Given the description of an element on the screen output the (x, y) to click on. 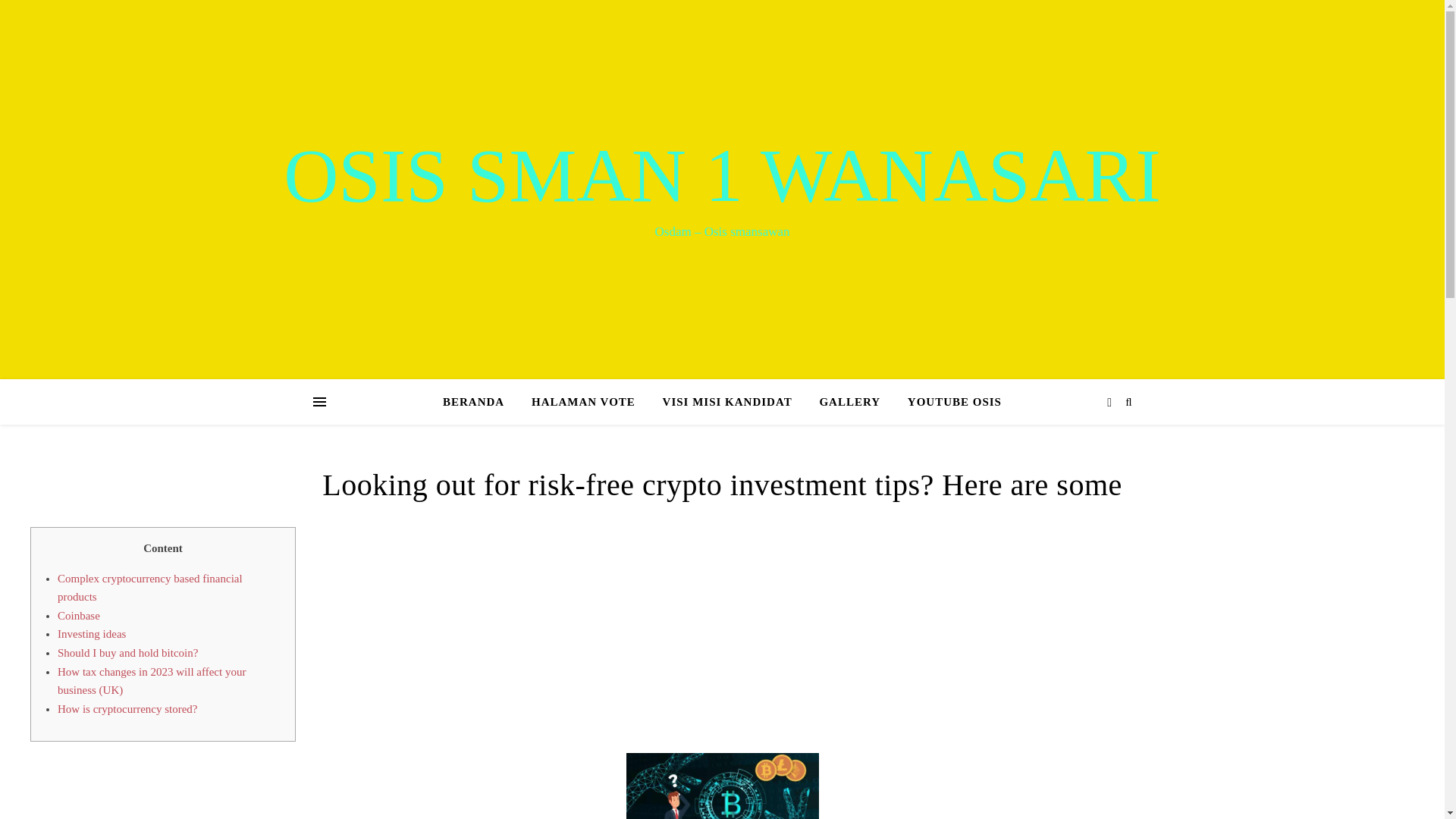
GALLERY (849, 402)
How is cryptocurrency stored? (128, 708)
YOUTUBE OSIS (948, 402)
Complex cryptocurrency based financial products (150, 587)
VISI MISI KANDIDAT (727, 402)
Investing ideas (91, 633)
HALAMAN VOTE (583, 402)
Coinbase (79, 615)
BERANDA (479, 402)
Should I buy and hold bitcoin? (128, 653)
